Given the description of an element on the screen output the (x, y) to click on. 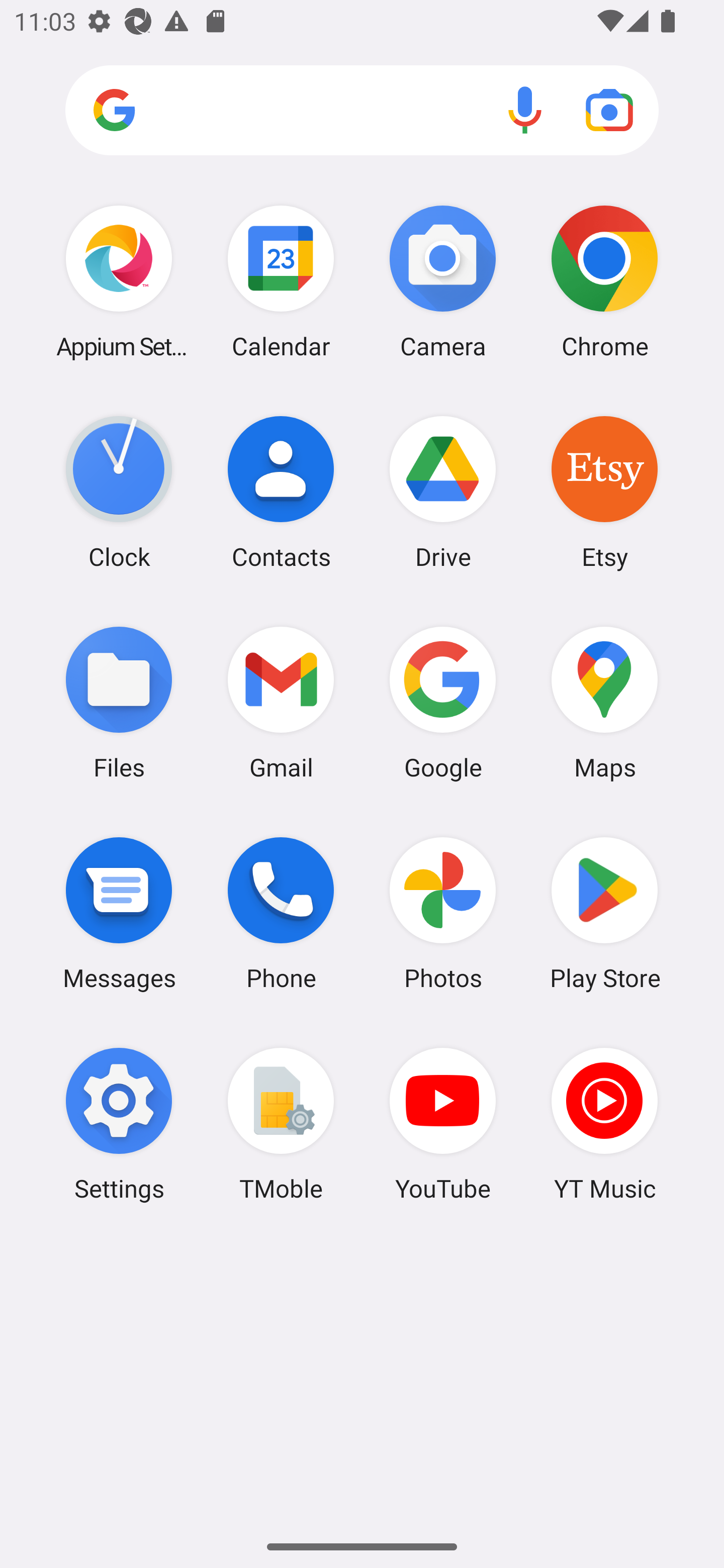
Search apps, web and more (361, 110)
Voice search (524, 109)
Google Lens (608, 109)
Appium Settings (118, 281)
Calendar (280, 281)
Camera (443, 281)
Chrome (604, 281)
Clock (118, 492)
Contacts (280, 492)
Drive (443, 492)
Etsy (604, 492)
Files (118, 702)
Gmail (280, 702)
Google (443, 702)
Maps (604, 702)
Messages (118, 913)
Phone (280, 913)
Photos (443, 913)
Play Store (604, 913)
Settings (118, 1124)
TMoble (280, 1124)
YouTube (443, 1124)
YT Music (604, 1124)
